Given the description of an element on the screen output the (x, y) to click on. 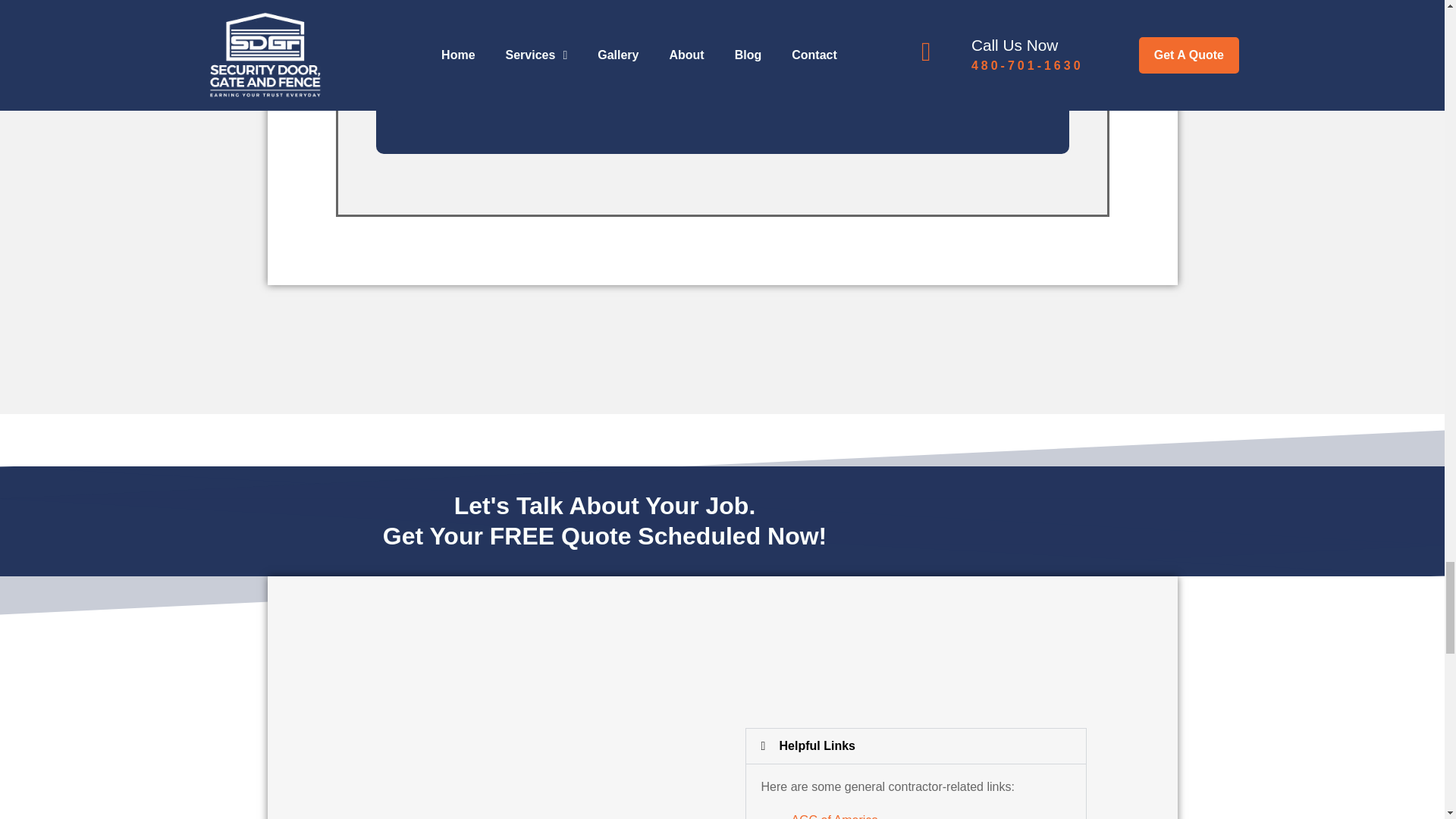
Submit (427, 102)
